Given the description of an element on the screen output the (x, y) to click on. 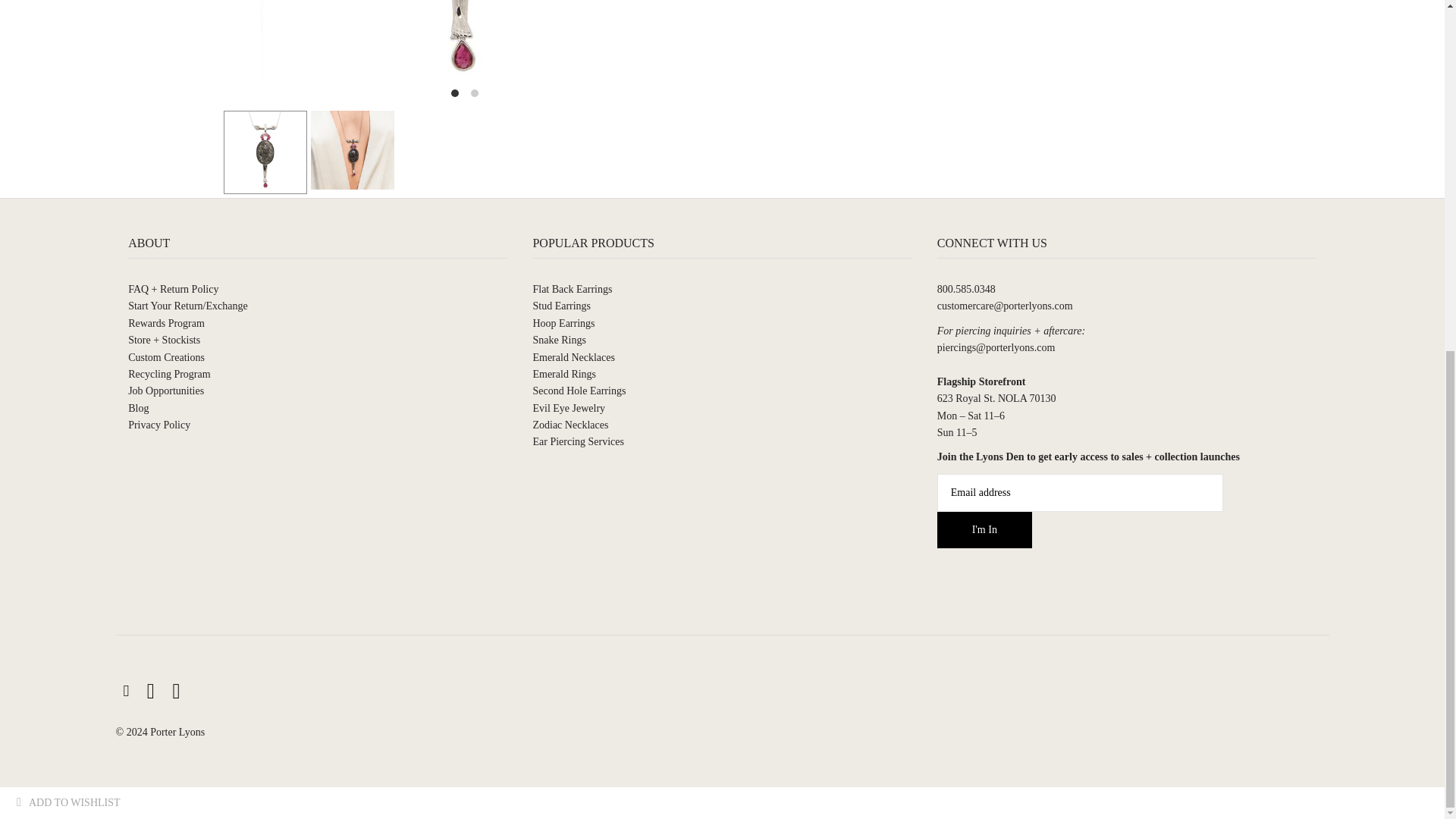
I'm In (984, 529)
